Given the description of an element on the screen output the (x, y) to click on. 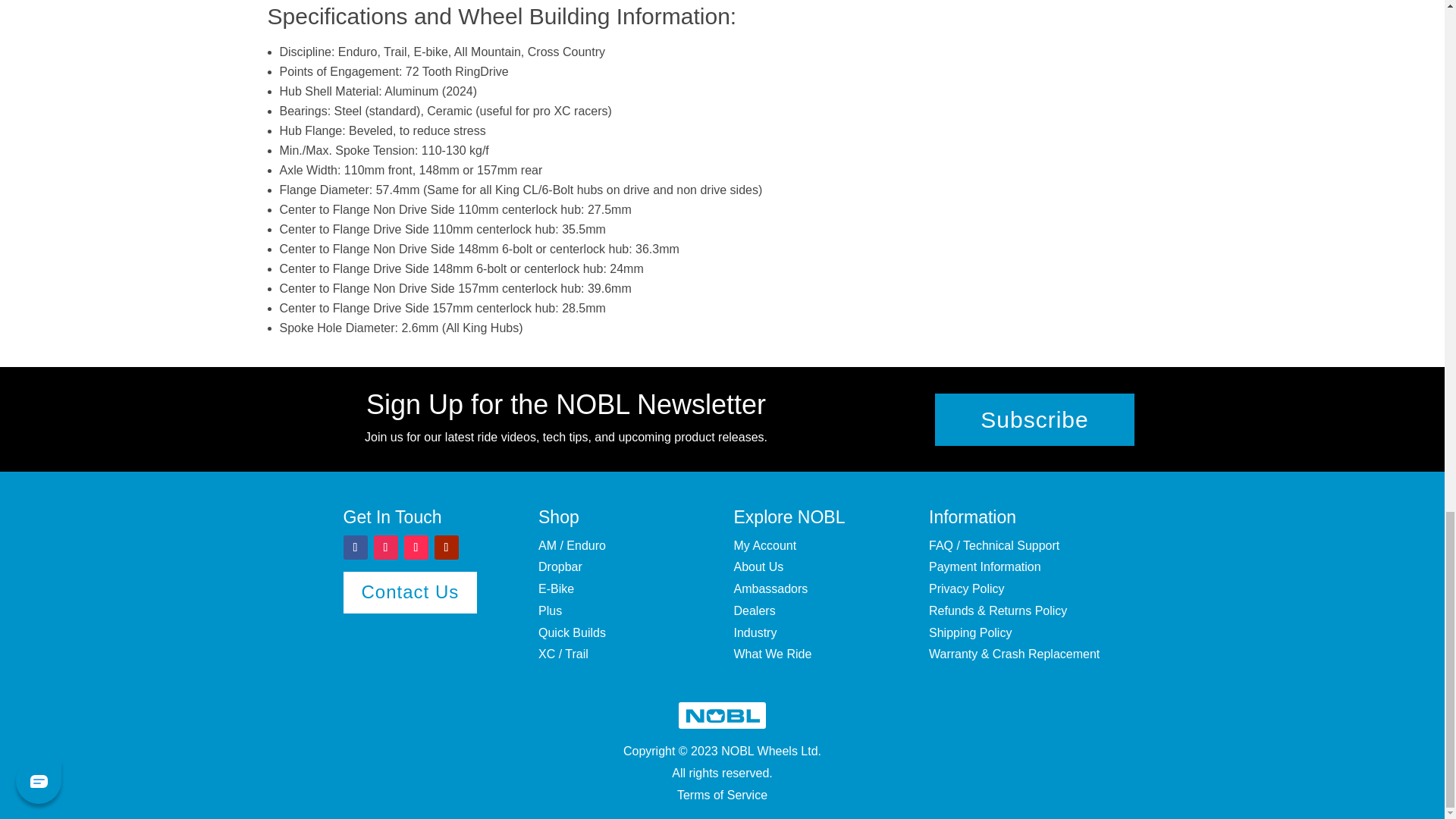
NOBL-logo-white (721, 714)
Follow on TikTok (415, 547)
Follow on Youtube (445, 547)
Follow on Facebook (354, 547)
Terms of Service (722, 794)
Follow on Instagram (384, 547)
